Given the description of an element on the screen output the (x, y) to click on. 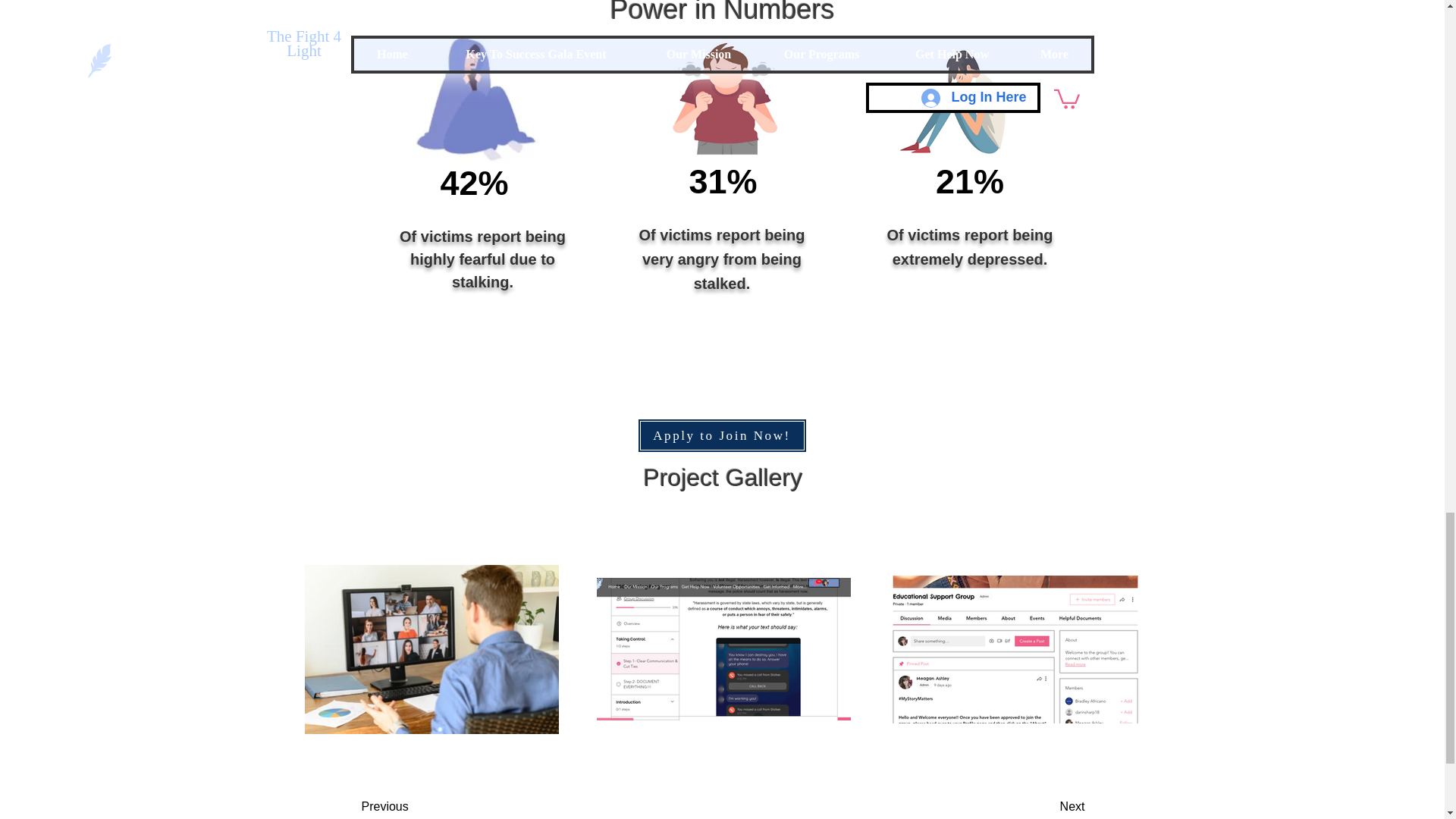
depressed.png (956, 99)
Previous (422, 805)
Next (1033, 805)
angry.png (723, 99)
Apply to Join Now! (721, 435)
